Given the description of an element on the screen output the (x, y) to click on. 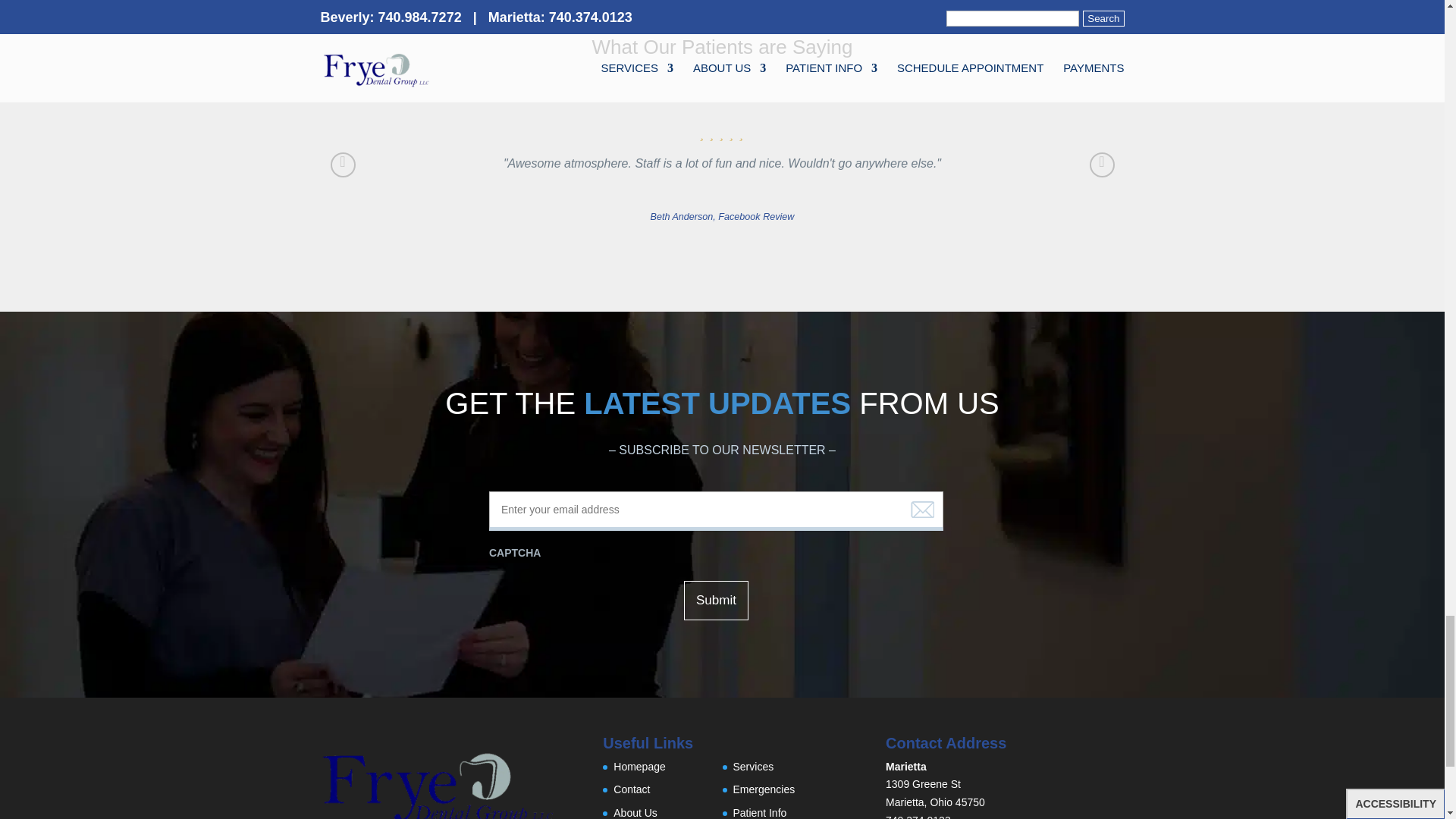
Submit (716, 599)
